Given the description of an element on the screen output the (x, y) to click on. 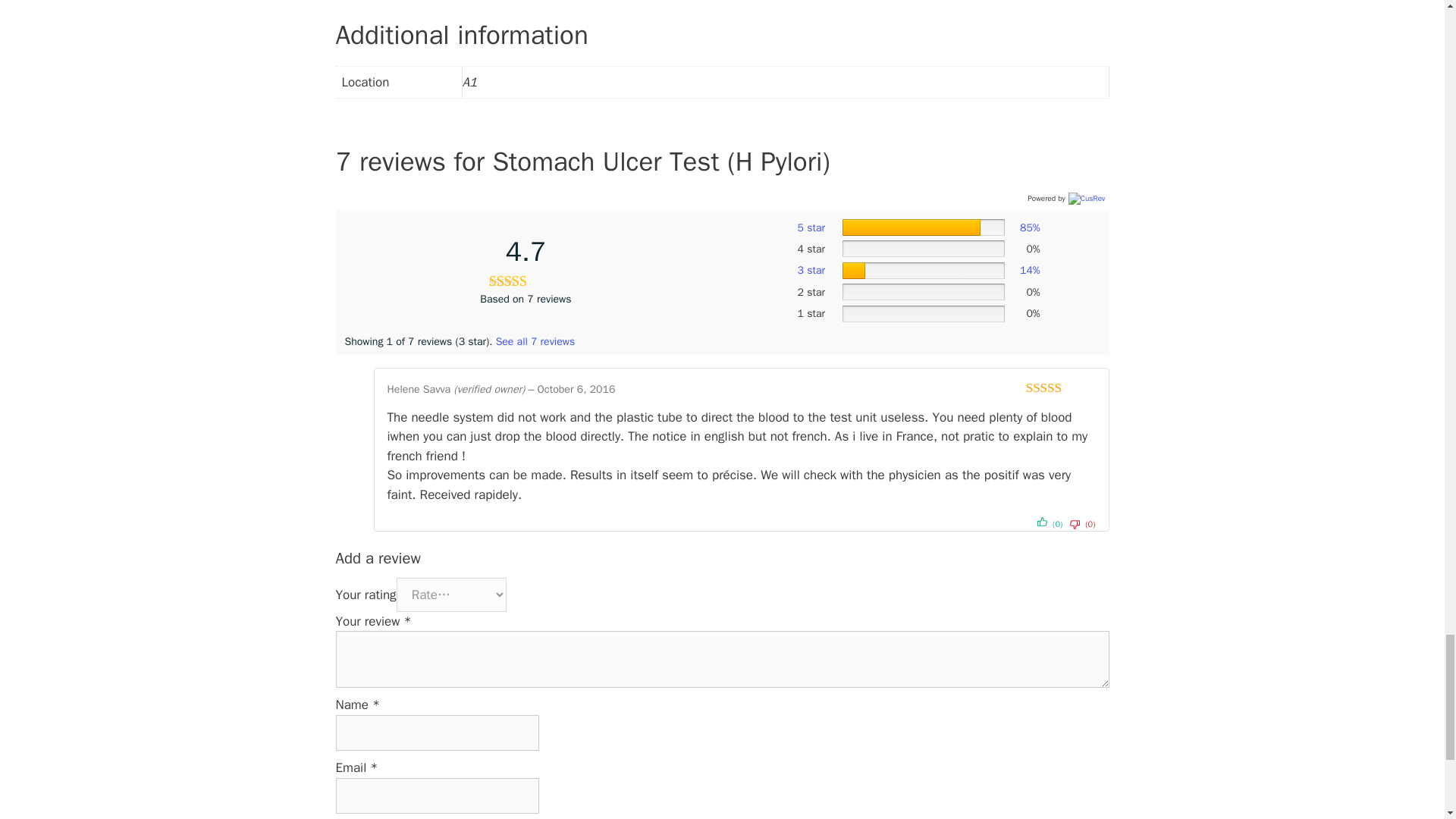
Rated 3 out of 5 (1061, 386)
3 star (811, 269)
Customer Reviews for WooCommerce (1085, 198)
5 star (811, 227)
